Given the description of an element on the screen output the (x, y) to click on. 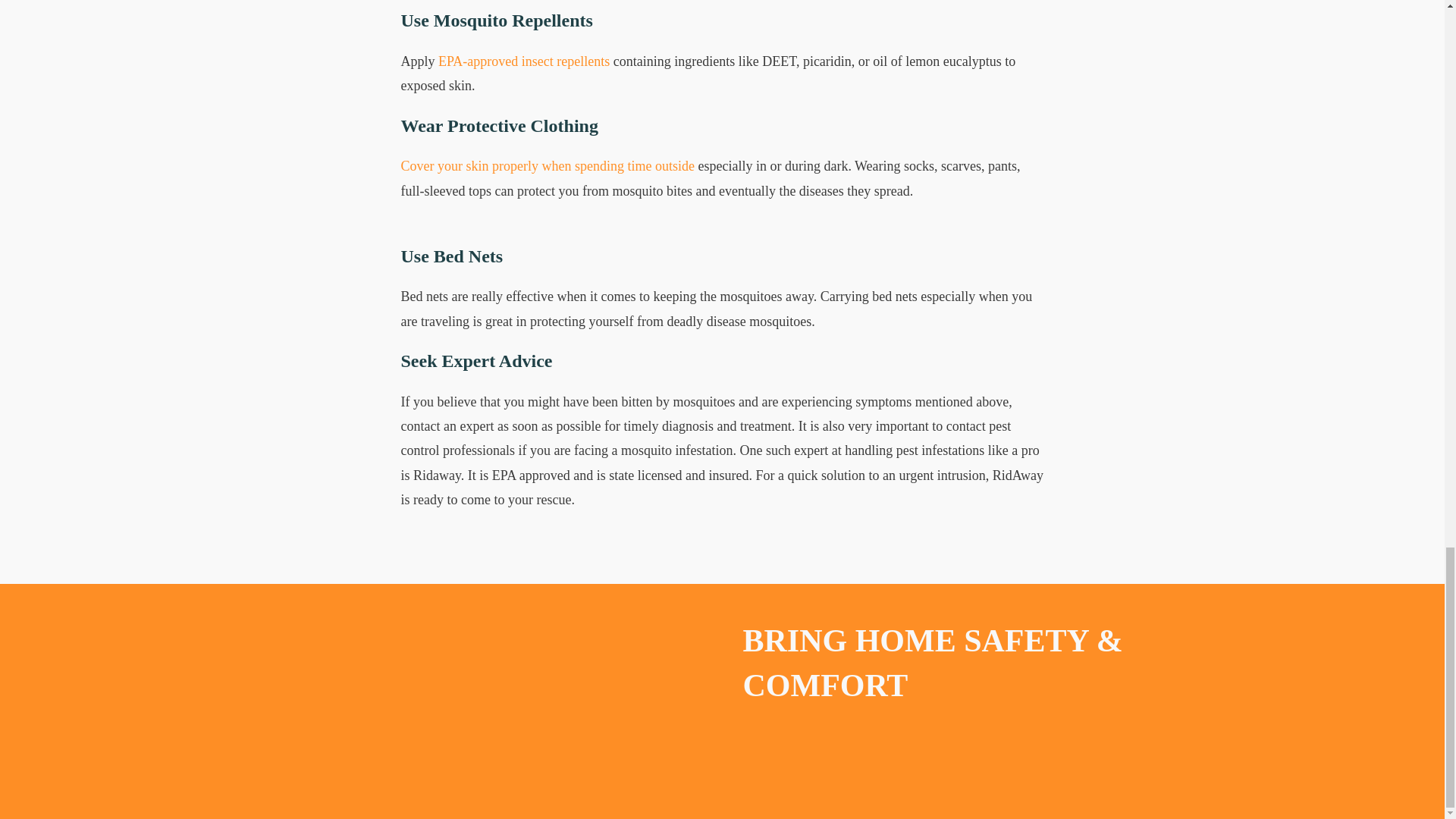
Cover your skin properly when spending time outside (547, 165)
EPA-approved insect repellents (524, 61)
